Given the description of an element on the screen output the (x, y) to click on. 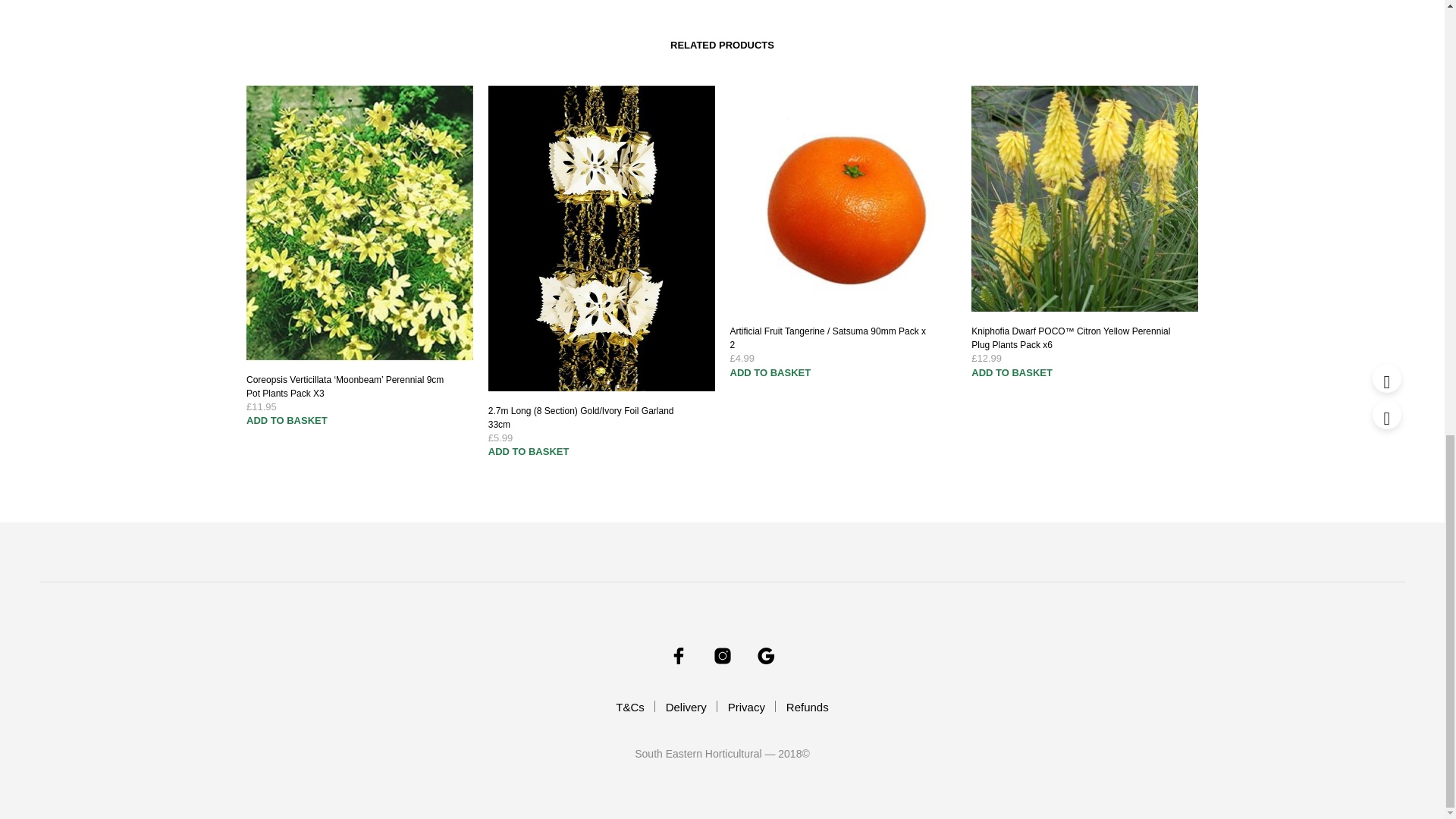
ADD TO BASKET (1011, 371)
ADD TO BASKET (286, 418)
ADD TO BASKET (769, 371)
ADD TO BASKET (528, 450)
